Given the description of an element on the screen output the (x, y) to click on. 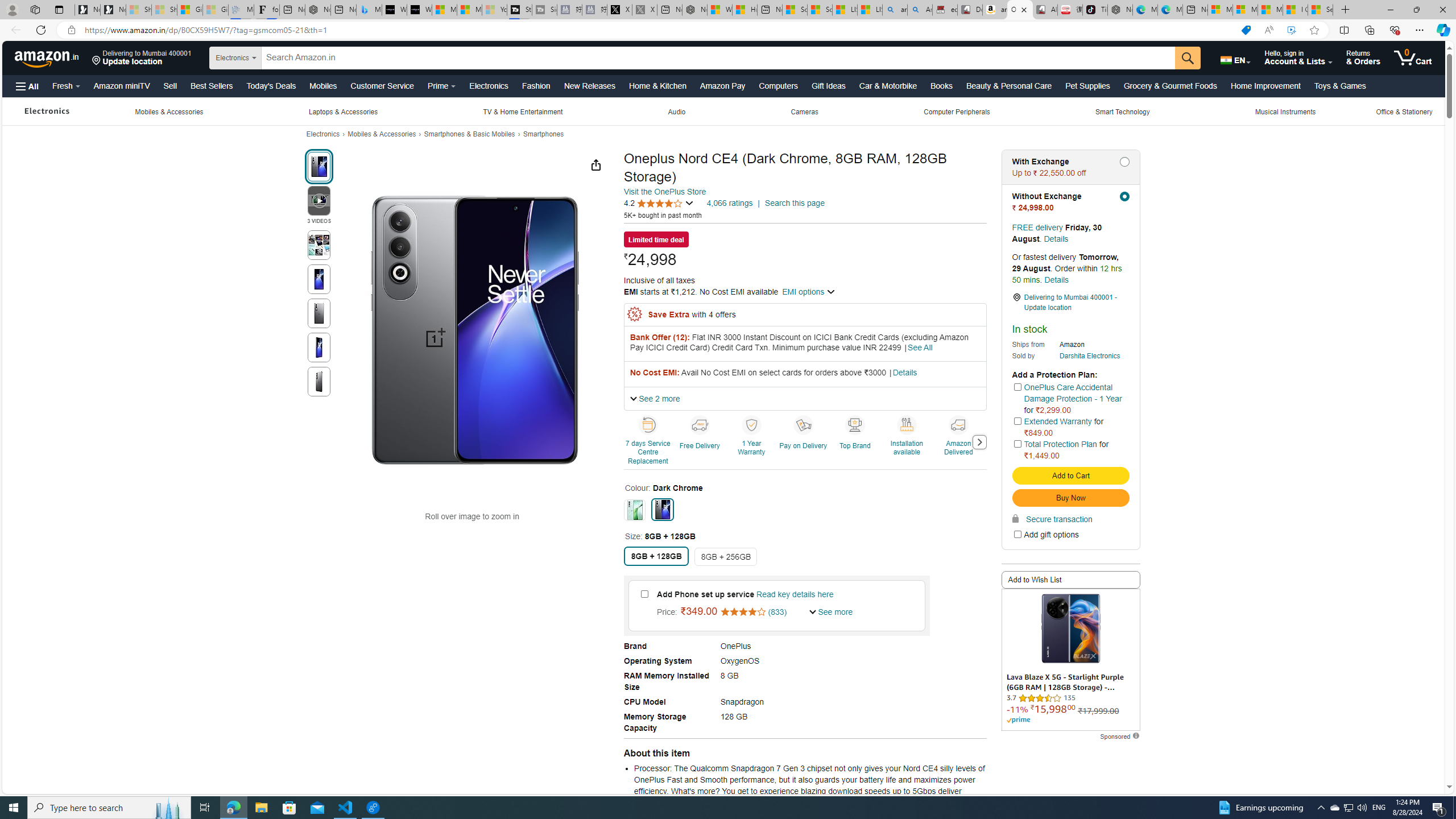
Nordace - #1 Japanese Best-Seller - Siena Smart Backpack (316, 9)
Search in (264, 58)
Electronics (322, 134)
Sponsored ad (1070, 659)
 Read key details here (794, 593)
Delivering to Mumbai 400001 - Update location (1070, 302)
Computers (778, 85)
Microsoft Bing Travel - Shangri-La Hotel Bangkok (368, 9)
8GB + 128GB (655, 556)
